Given the description of an element on the screen output the (x, y) to click on. 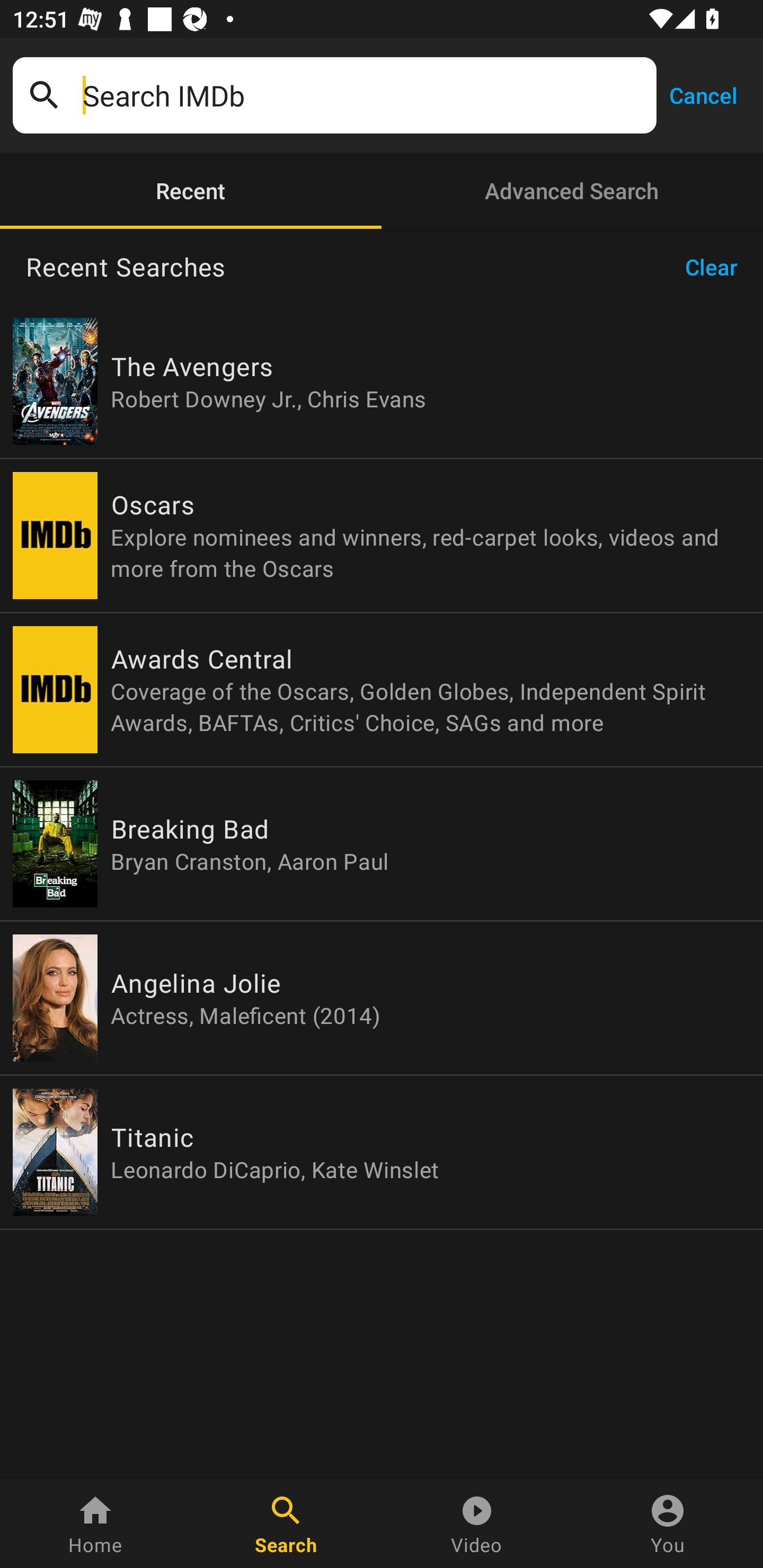
Cancel (703, 94)
Search IMDb (363, 95)
Advanced Search (572, 190)
Clear (717, 266)
The Avengers Robert Downey Jr., Chris Evans (381, 381)
Breaking Bad Bryan Cranston, Aaron Paul (381, 844)
Angelina Jolie Actress, Maleficent (2014) (381, 997)
Titanic Leonardo DiCaprio, Kate Winslet (381, 1151)
Home (95, 1523)
Video (476, 1523)
You (667, 1523)
